Given the description of an element on the screen output the (x, y) to click on. 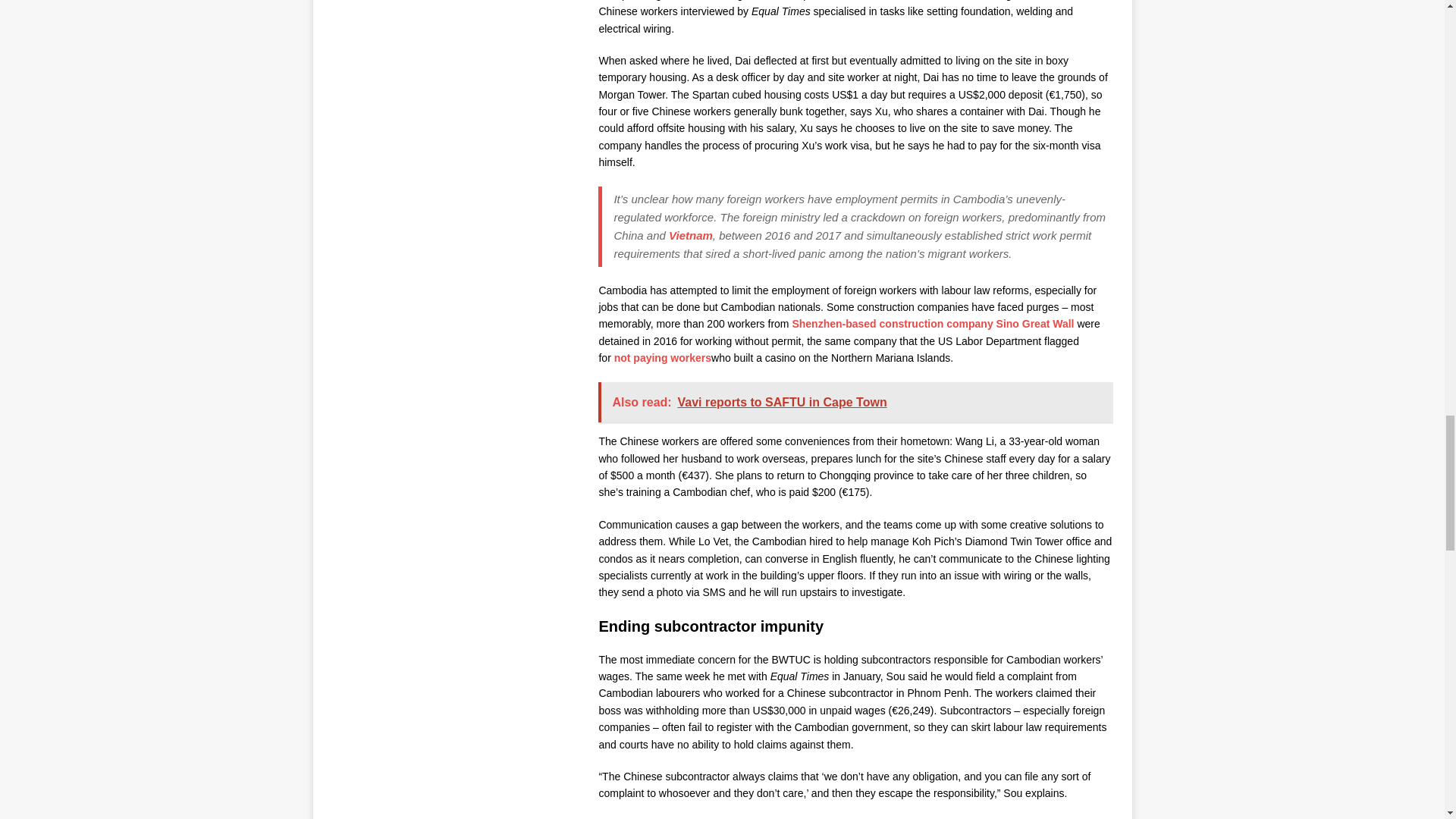
Vietnam (690, 235)
Shenzhen-based construction company Sino Great Wall (933, 323)
